Given the description of an element on the screen output the (x, y) to click on. 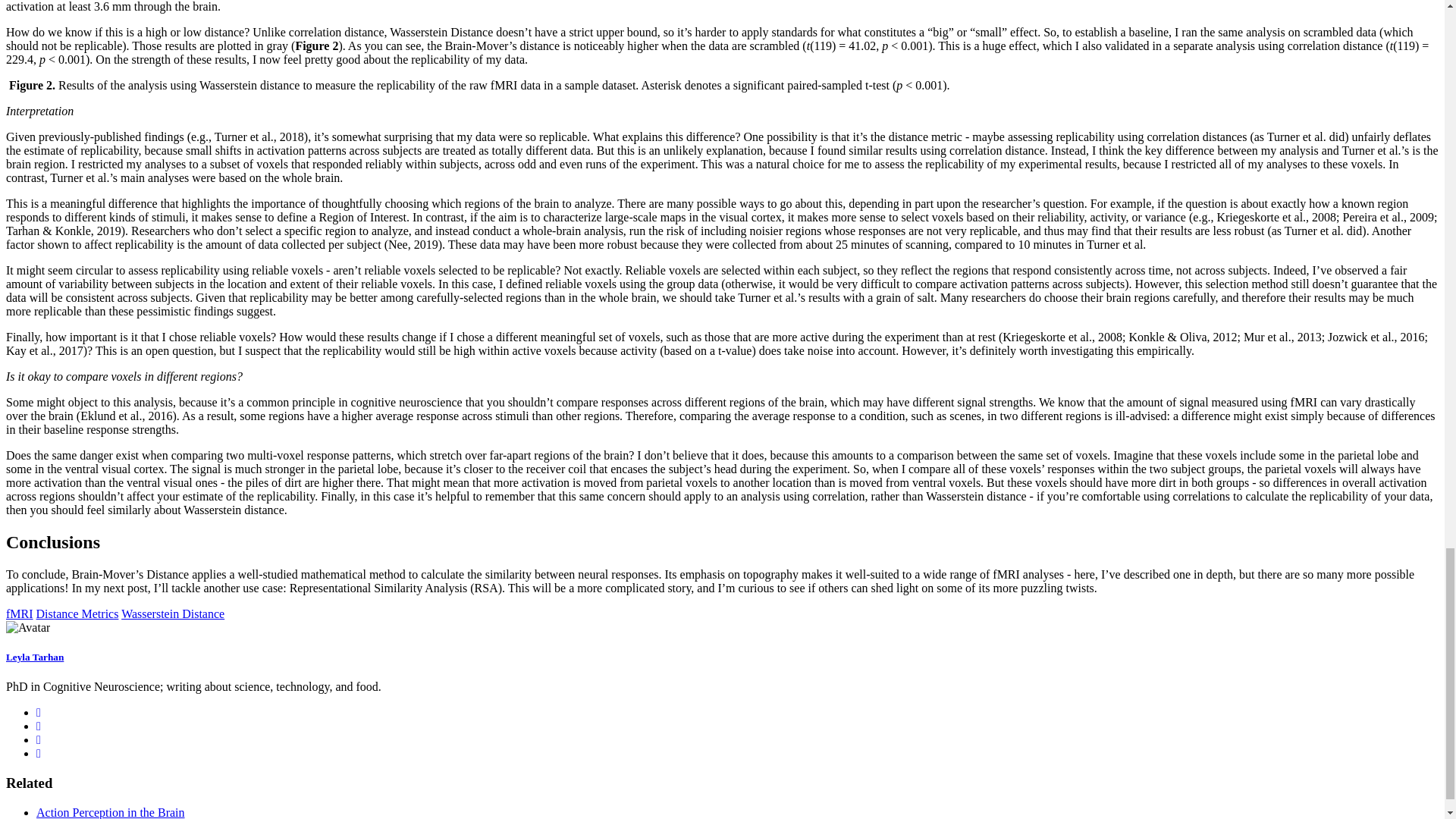
fMRI (19, 613)
Distance Metrics (77, 613)
Wasserstein Distance (172, 613)
Leyla Tarhan (34, 656)
